Given the description of an element on the screen output the (x, y) to click on. 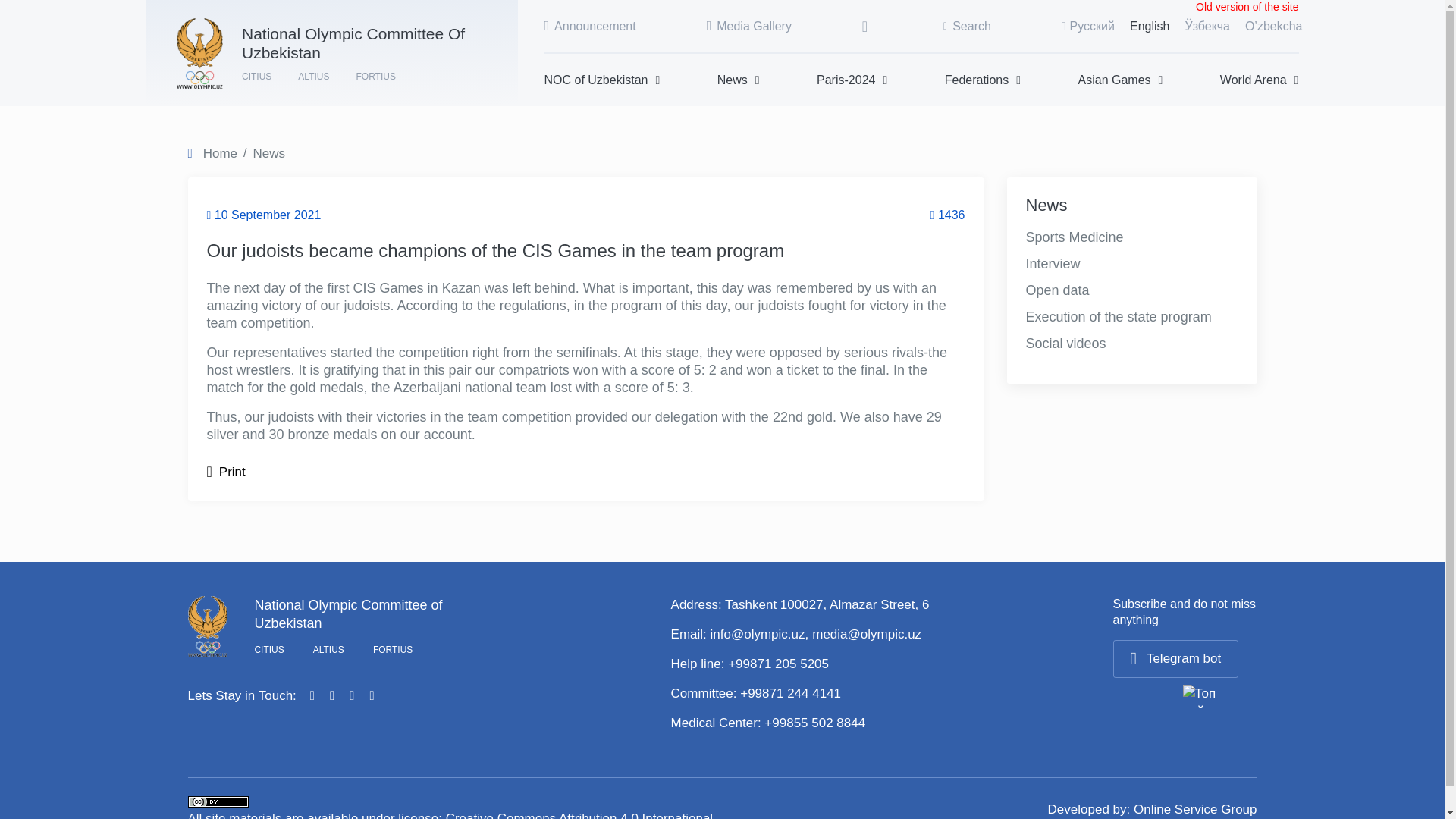
NOC of Uzbekistan (602, 79)
English (1149, 25)
Announcement (590, 25)
Old version of the site (1246, 7)
Media Gallery (749, 25)
Asian Games (1120, 79)
Paris-2024 (851, 79)
Federations (982, 79)
Search (967, 25)
News (738, 79)
